Given the description of an element on the screen output the (x, y) to click on. 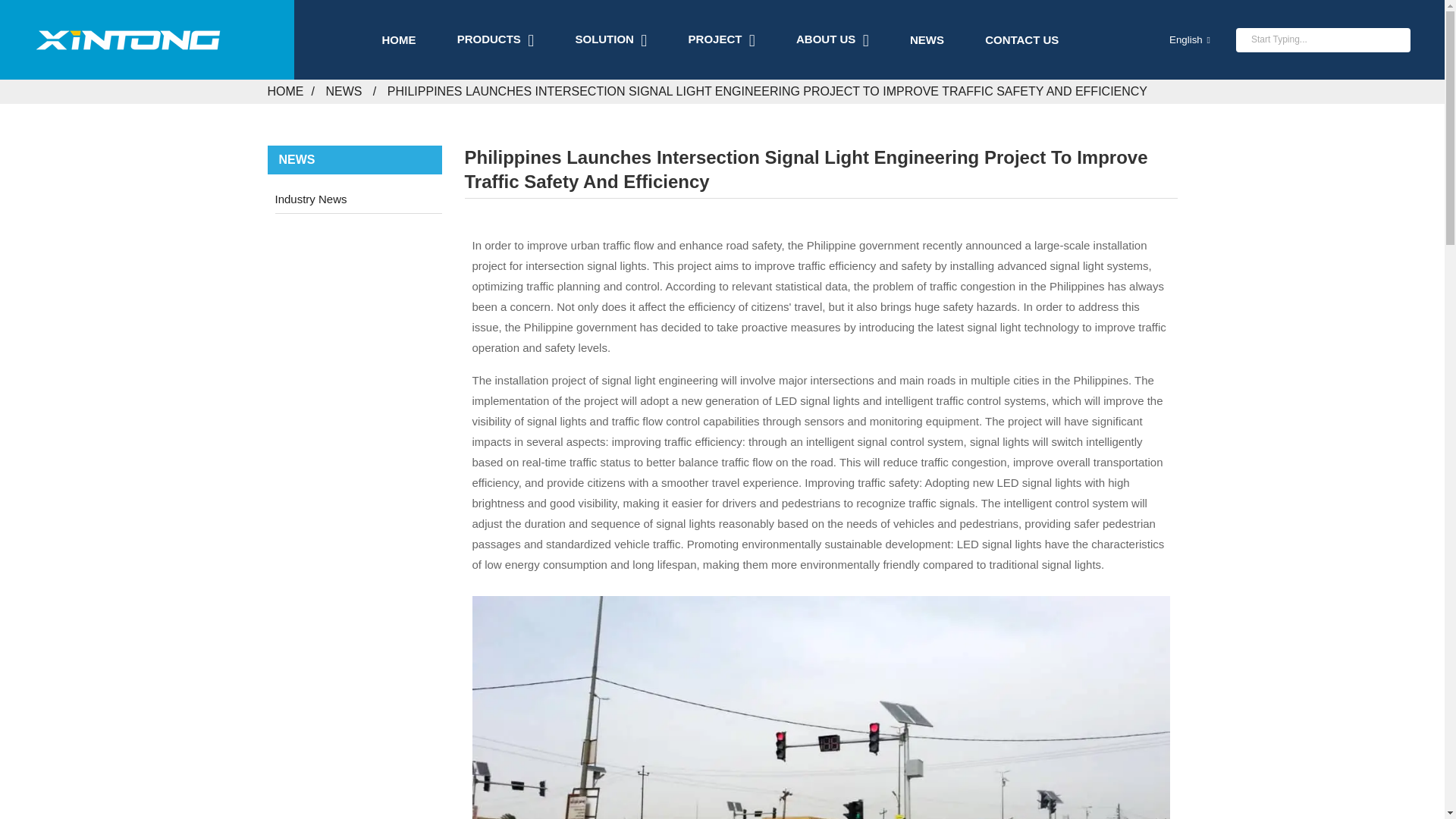
ABOUT US (832, 39)
English (1176, 39)
PROJECT (721, 39)
SOLUTION (610, 39)
PRODUCTS (495, 39)
HOME (397, 39)
CONTACT US (1021, 39)
NEWS (926, 39)
